Given the description of an element on the screen output the (x, y) to click on. 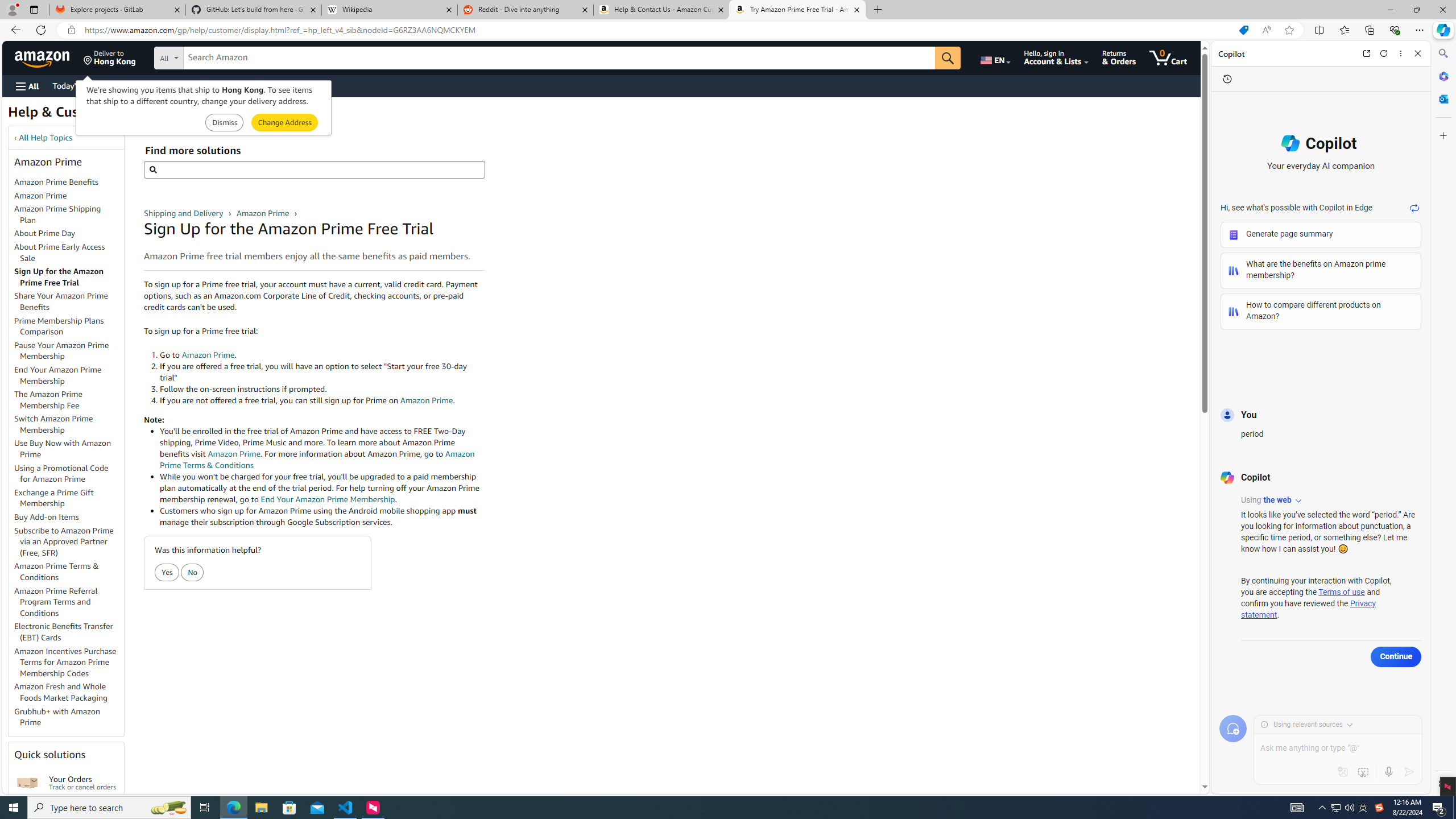
Open Menu (26, 86)
Amazon Prime Terms & Conditions (56, 571)
Hello, sign in Account & Lists (1056, 57)
Customer Service (145, 85)
Amazon Prime  (263, 213)
Share Your Amazon Prime Benefits (68, 301)
Pause Your Amazon Prime Membership (68, 350)
Amazon Prime Benefits (68, 182)
